Given the description of an element on the screen output the (x, y) to click on. 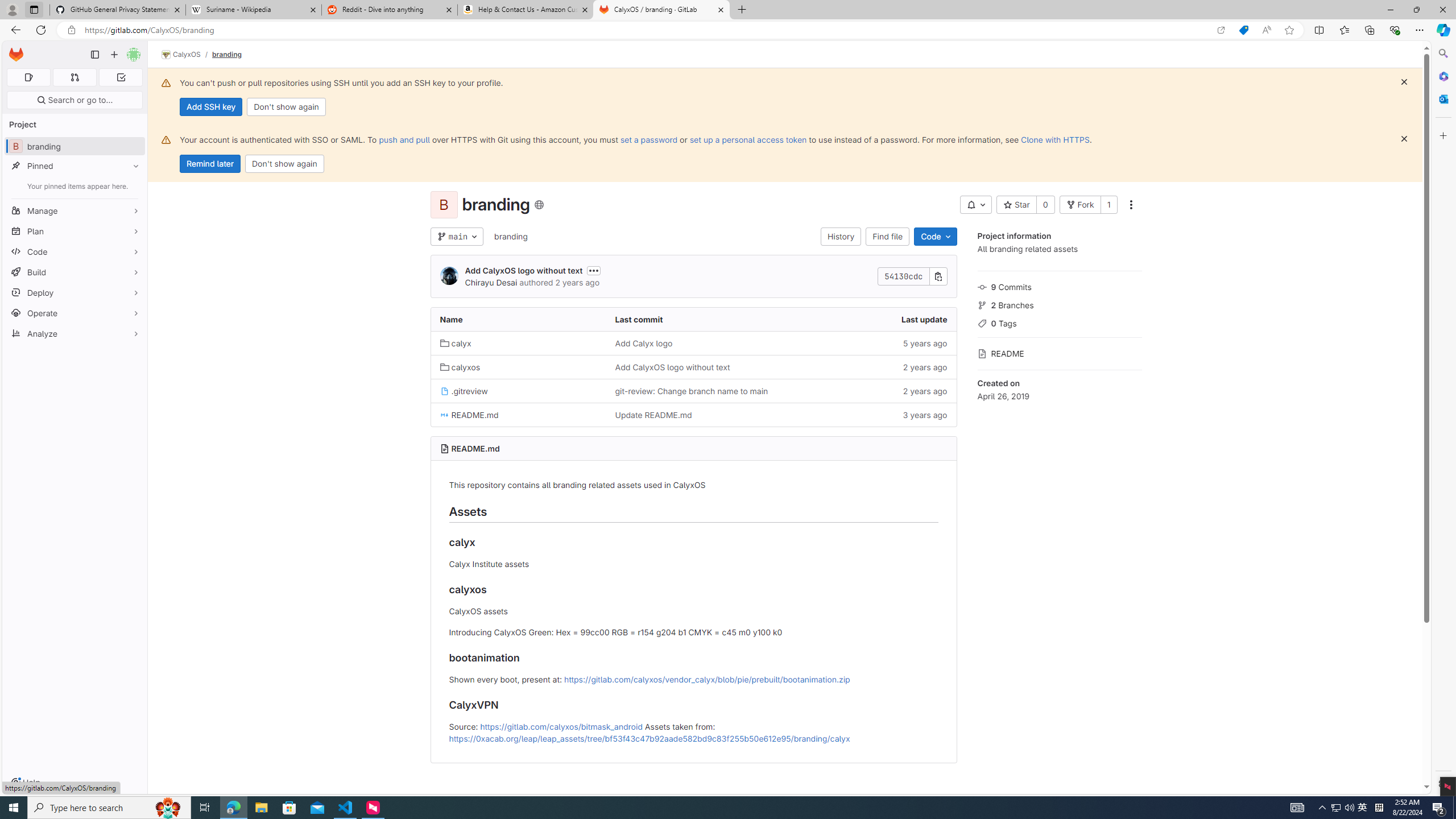
Update README.md (652, 414)
Last update (868, 319)
Operate (74, 312)
0 Tags (1058, 322)
Analyze (74, 333)
2 Branches (1058, 304)
Bbranding (74, 145)
0 Tags (1058, 322)
Don't show again (284, 163)
README (1058, 352)
calyxos (459, 367)
